Given the description of an element on the screen output the (x, y) to click on. 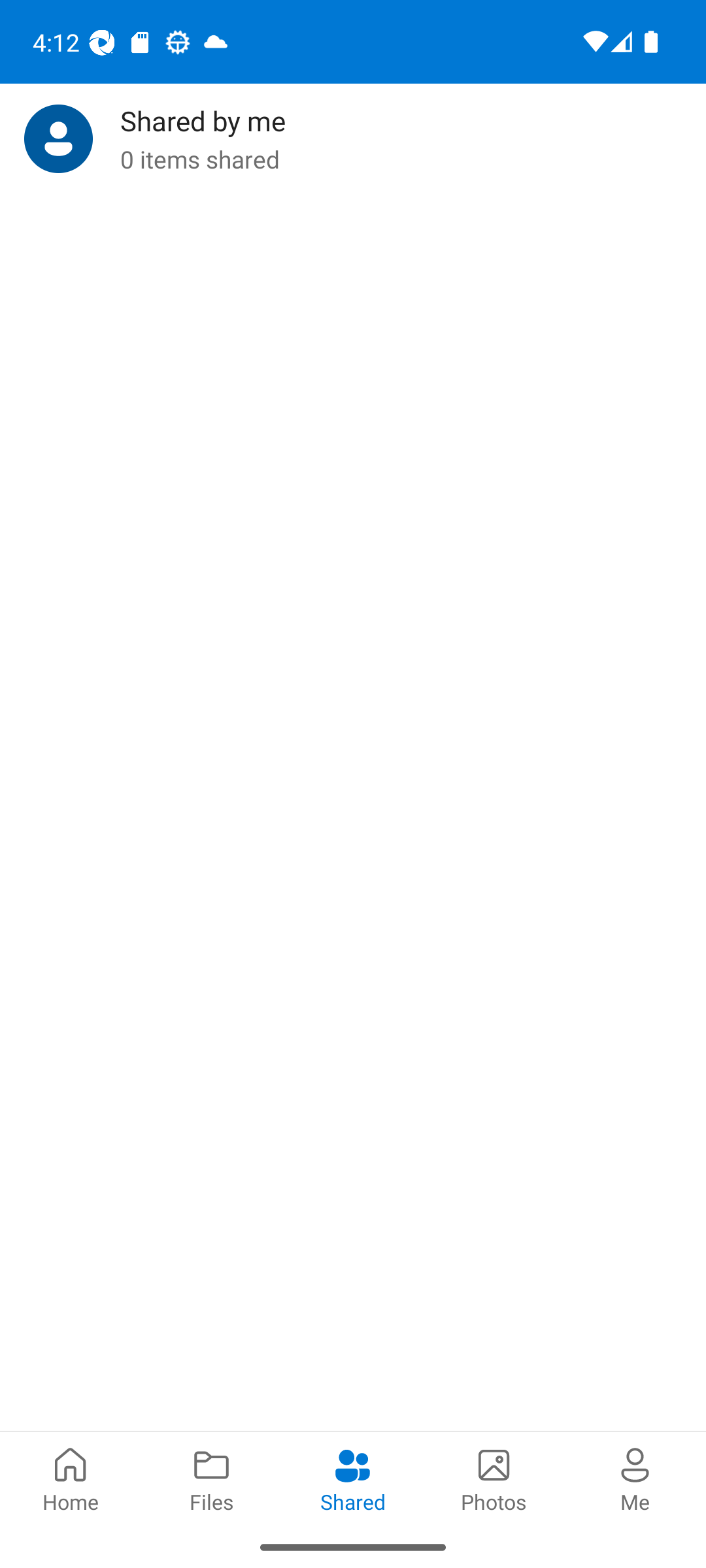
0 Shared by me 0 items shared (353, 138)
Home pivot Home (70, 1478)
Files pivot Files (211, 1478)
Photos pivot Photos (493, 1478)
Me pivot Me (635, 1478)
